Given the description of an element on the screen output the (x, y) to click on. 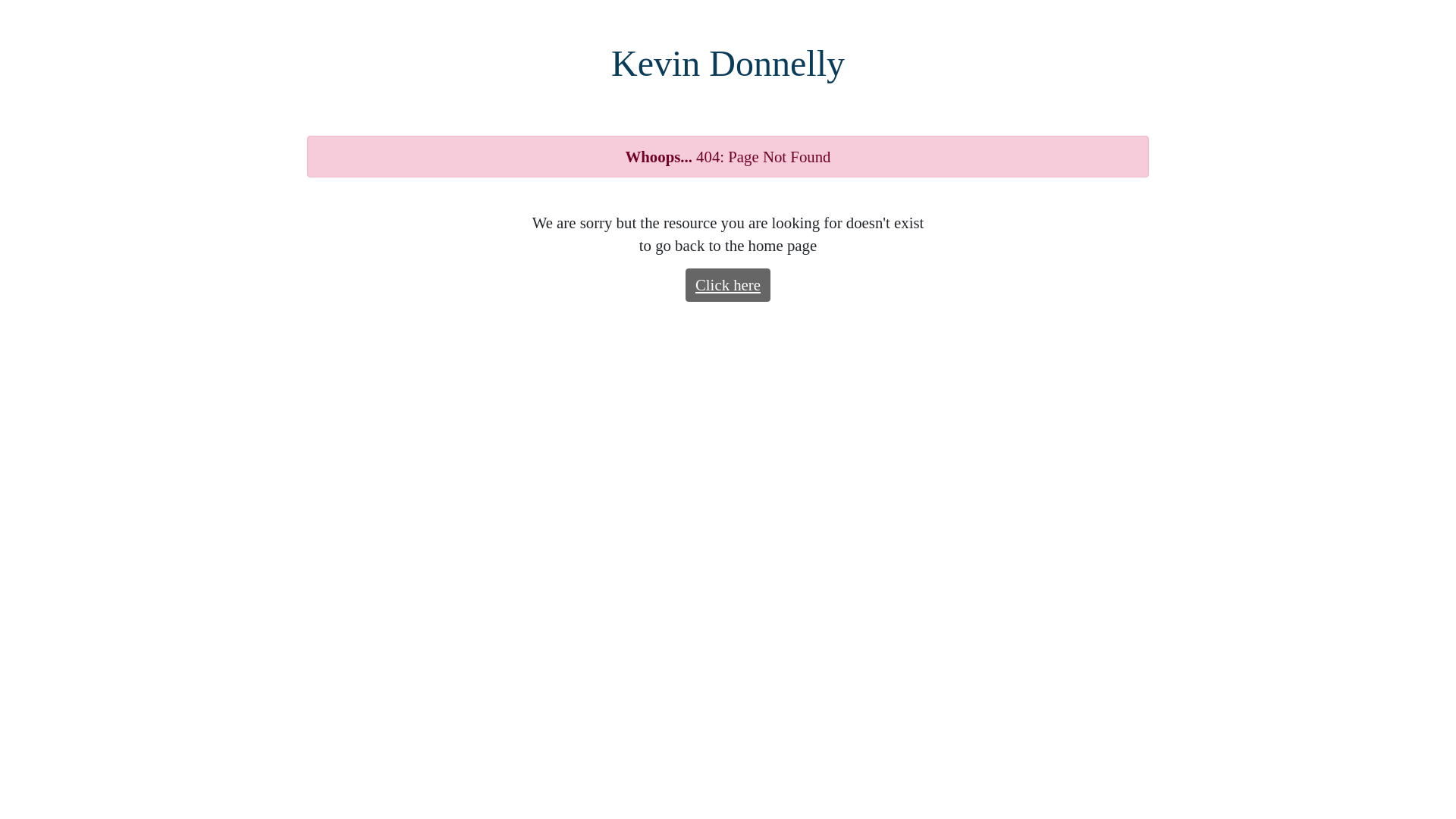
Click here Element type: text (727, 284)
